Given the description of an element on the screen output the (x, y) to click on. 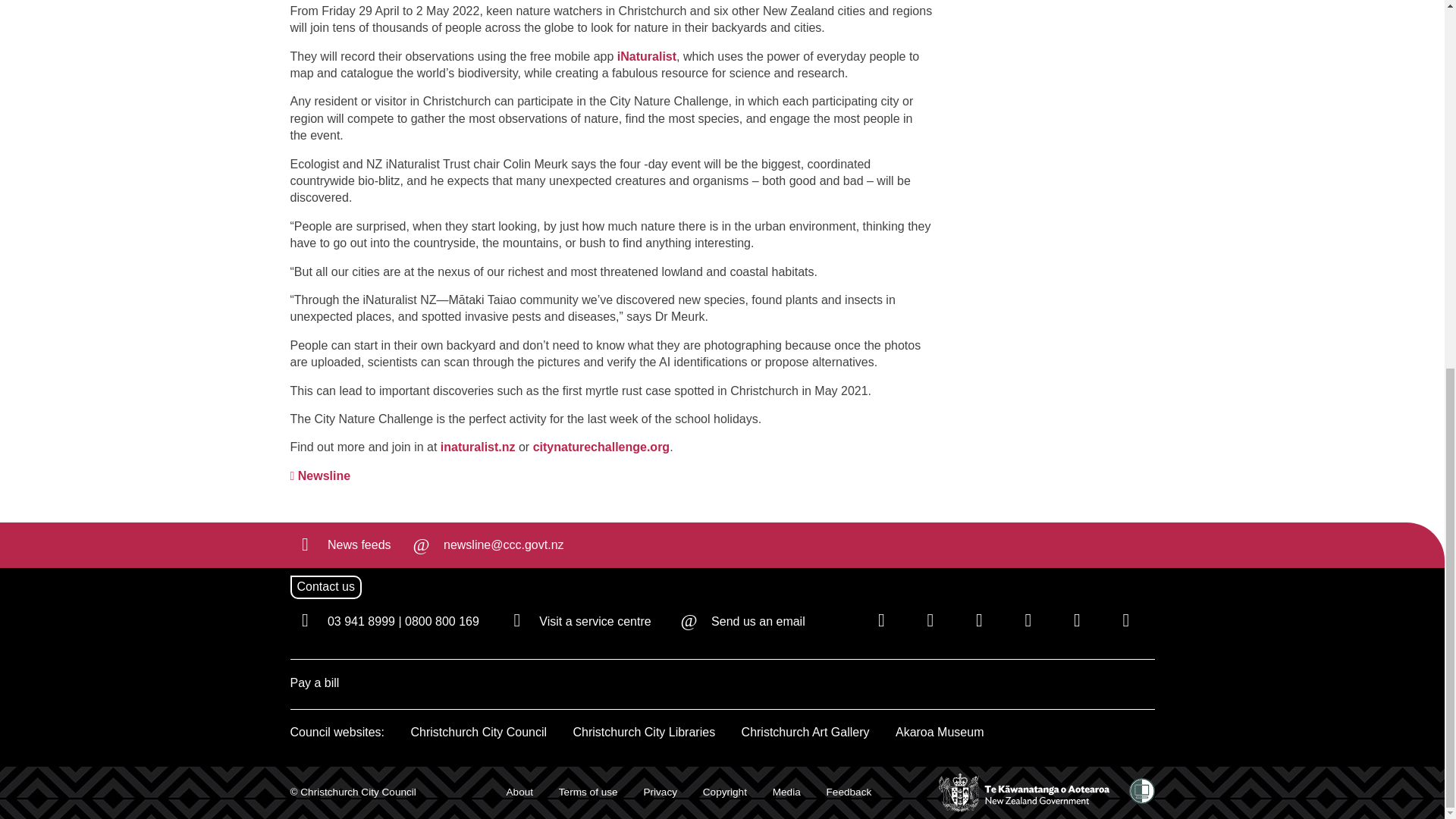
inaturalist.nz (475, 446)
citynaturechallenge.org (600, 446)
iNaturalist (644, 56)
Inaturalist (475, 446)
Newsline (319, 475)
City Nature Challenge (600, 446)
Inaturalist (644, 56)
